Given the description of an element on the screen output the (x, y) to click on. 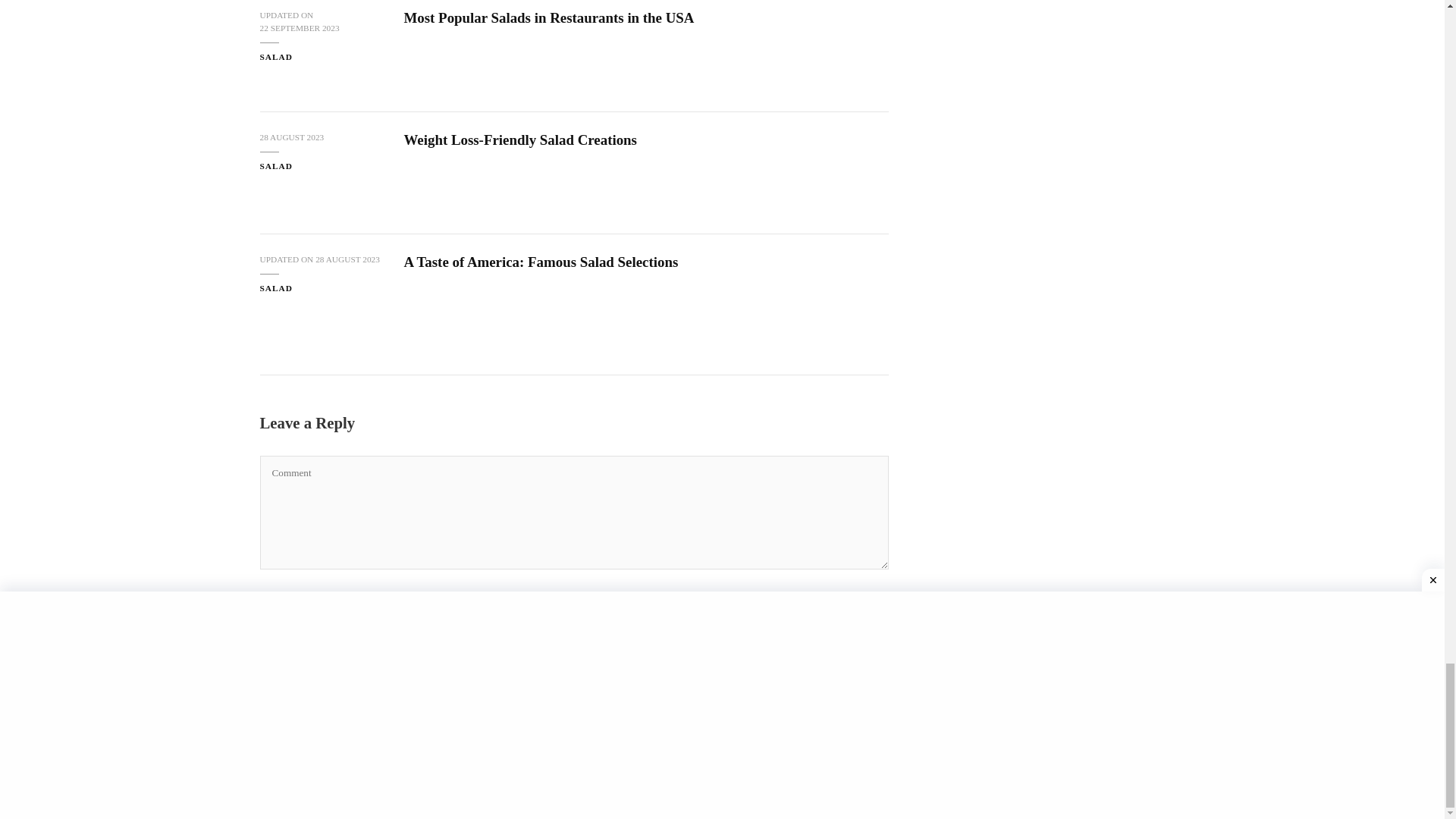
SALAD (275, 56)
Most Popular Salads in Restaurants in the USA (548, 17)
22 SEPTEMBER 2023 (299, 28)
28 AUGUST 2023 (347, 259)
A Taste of America: Famous Salad Selections (540, 261)
Post Comment (331, 702)
SALAD (275, 165)
28 AUGUST 2023 (291, 137)
Weight Loss-Friendly Salad Creations (519, 139)
SALAD (275, 287)
